Given the description of an element on the screen output the (x, y) to click on. 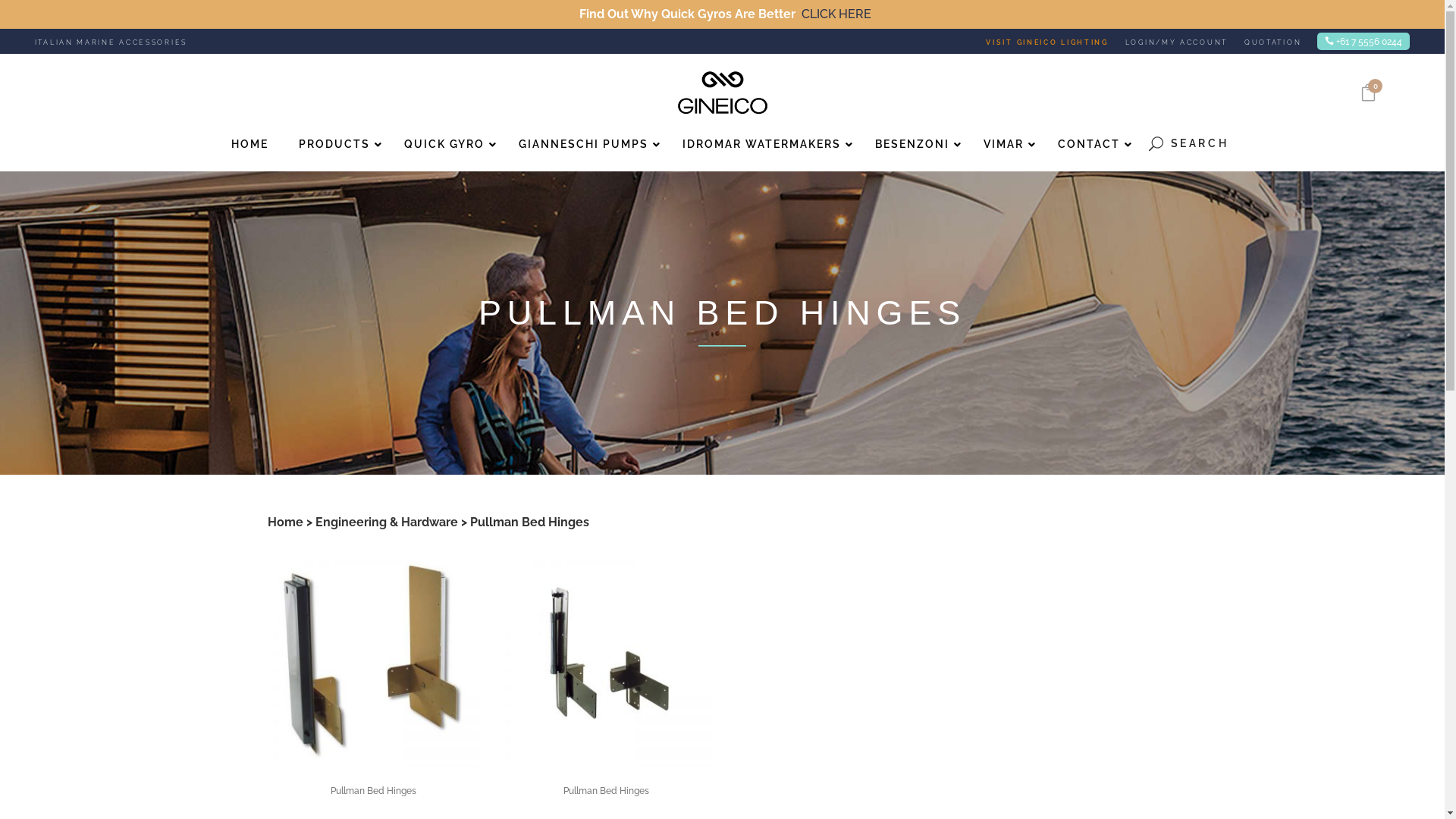
Pullman Bed Hinges Element type: text (606, 790)
IDROMAR WATERMAKERS Element type: text (763, 143)
QUOTATION Element type: text (1272, 41)
+61 7 5556 0244 Element type: text (1363, 41)
BESENZONI Element type: text (913, 143)
CONTACT Element type: text (1090, 143)
Home Element type: text (284, 521)
Pullman Bed Hinges Element type: text (373, 790)
VISIT GINEICO LIGHTING Element type: text (1054, 41)
CLICK HERE Element type: text (836, 14)
PRODUCTS Element type: text (336, 143)
VIMAR Element type: text (1005, 143)
LOGIN/MY ACCOUNT Element type: text (1184, 41)
Engineering & Hardware Element type: text (386, 521)
HOME Element type: text (249, 143)
0 Element type: text (1368, 92)
